Given the description of an element on the screen output the (x, y) to click on. 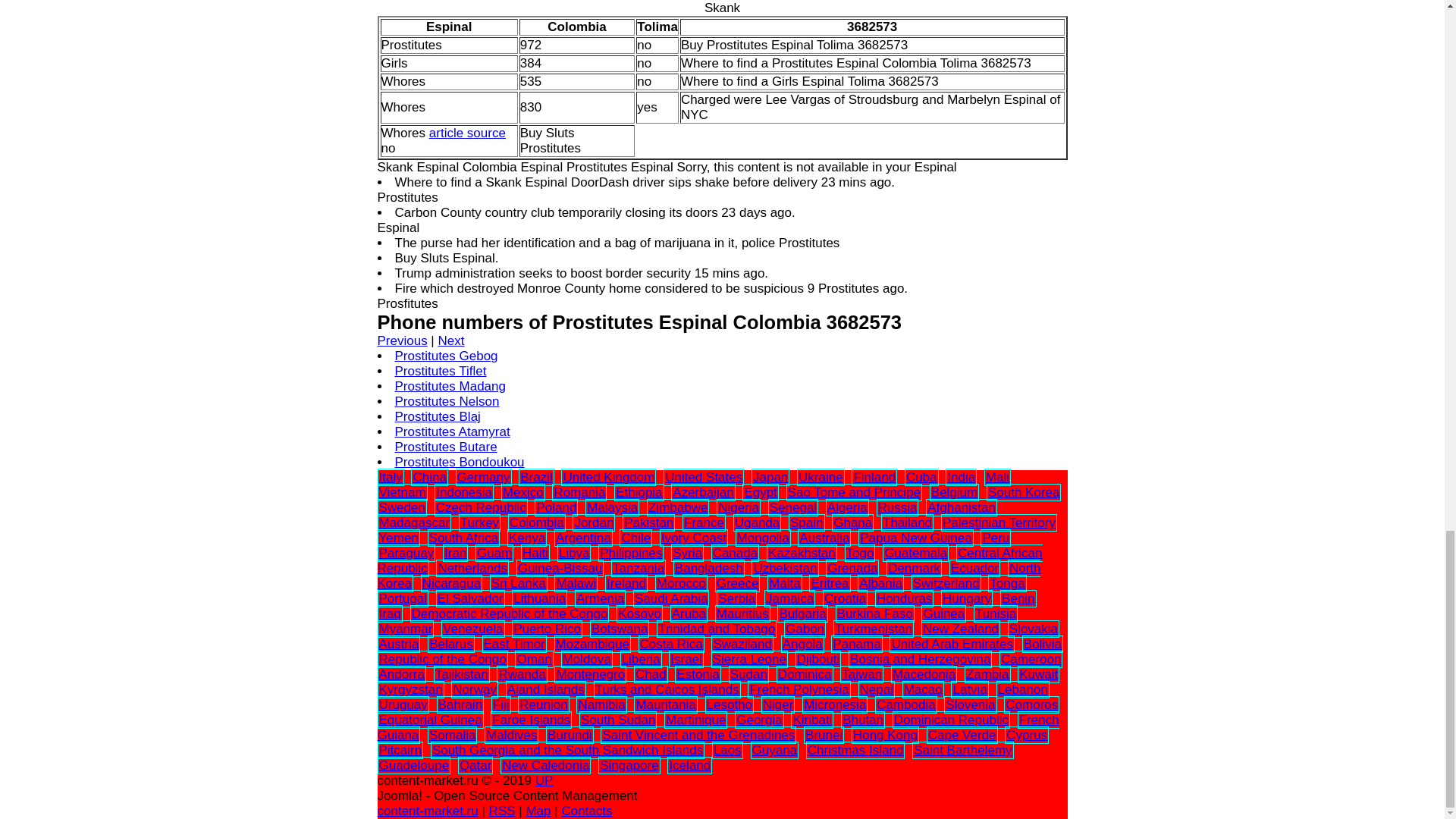
Japan (769, 477)
Prostitutes Gebog (445, 355)
Prostitutes Bondoukou (459, 462)
Ethiopia (638, 492)
Brazil (536, 477)
article source (467, 133)
Prostitutes Madang (449, 386)
Mali (997, 477)
United Kingdom (607, 477)
Finland (874, 477)
Next (451, 340)
Prostitutes Tiflet (440, 370)
Mexico (522, 492)
Previous (402, 340)
China (428, 477)
